Given the description of an element on the screen output the (x, y) to click on. 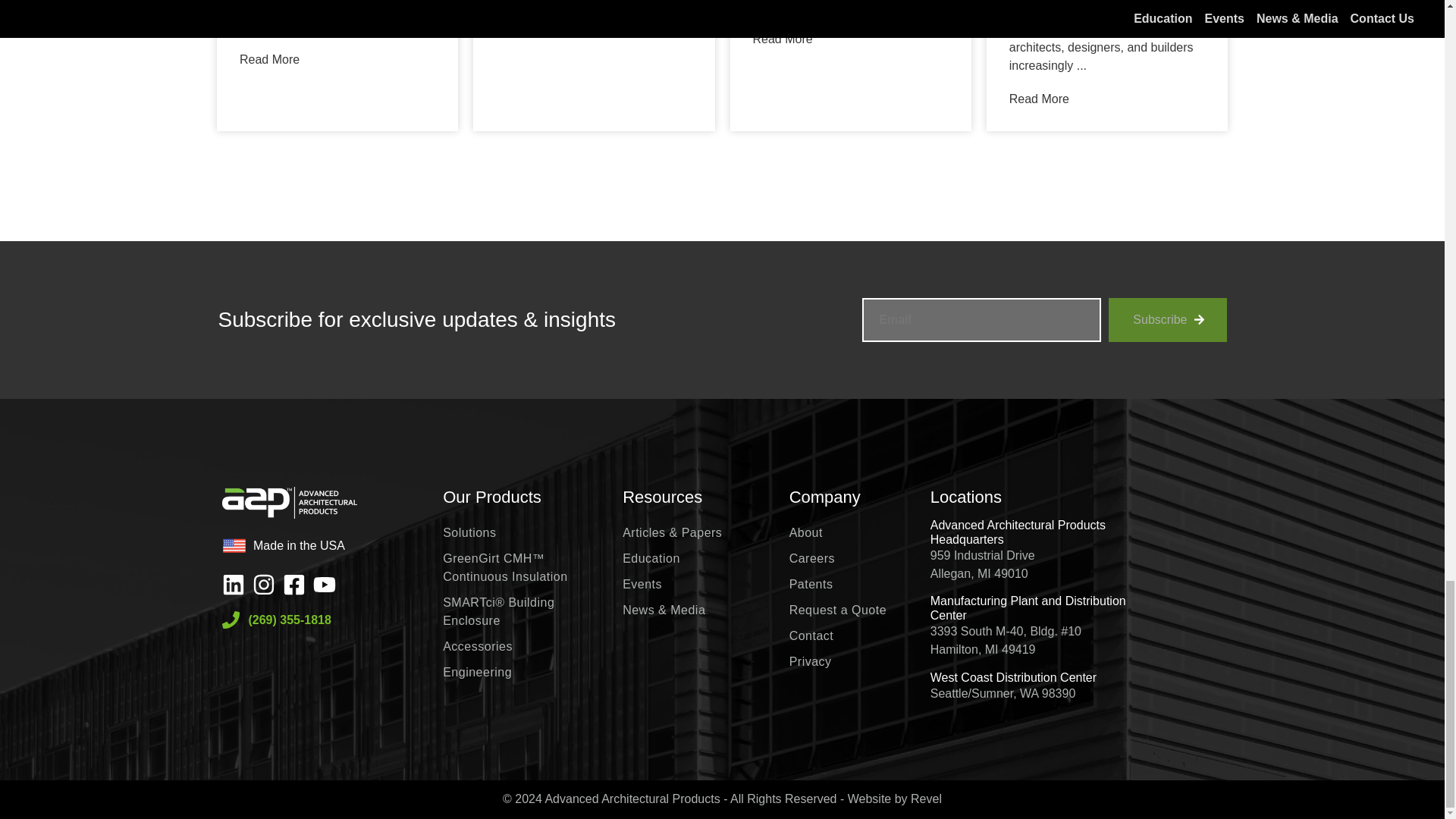
Subscribe (1166, 320)
